Given the description of an element on the screen output the (x, y) to click on. 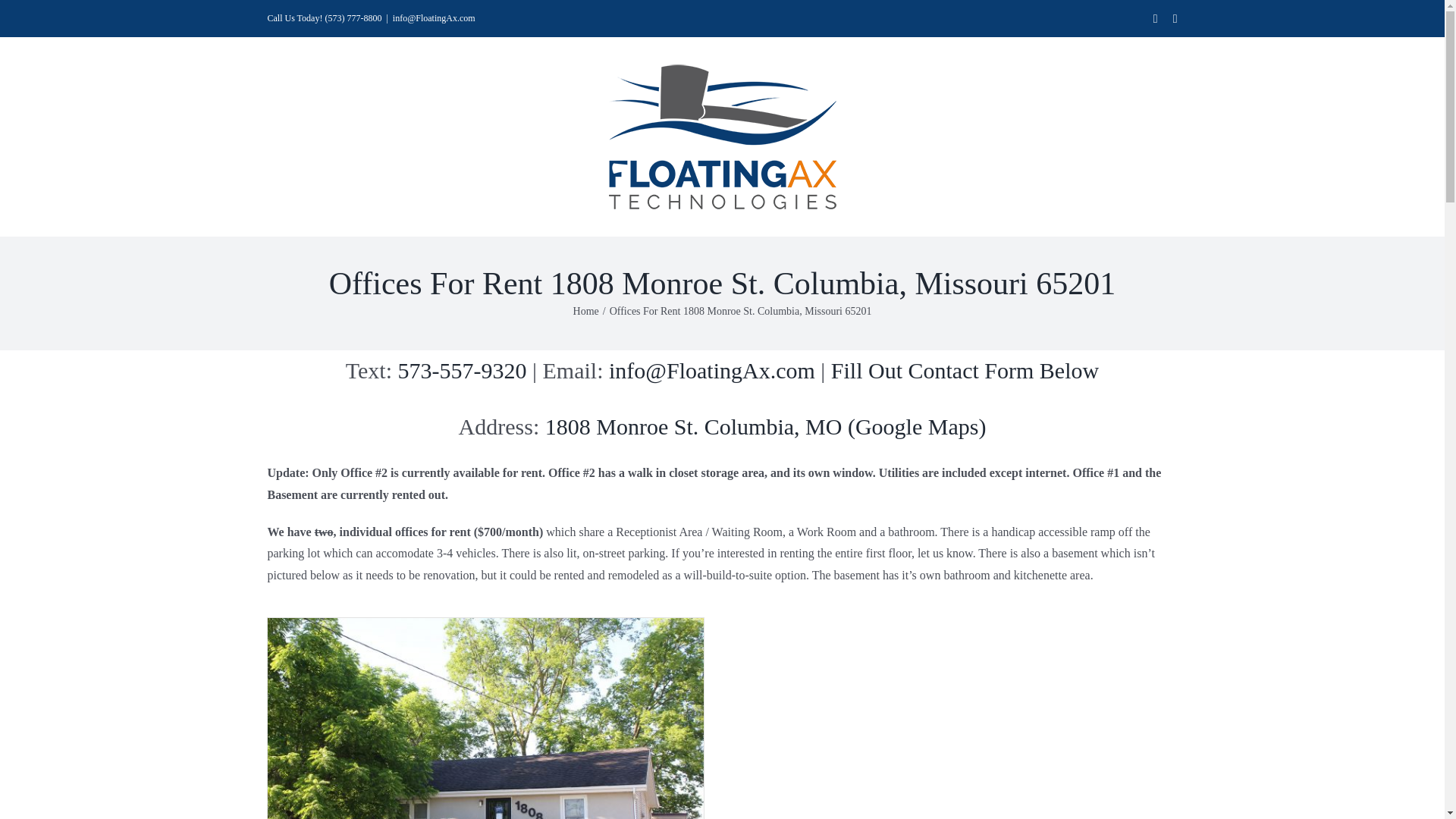
Home (585, 310)
573-557-9320 (462, 370)
Individual Offices For Rent in Columbia Missouri (485, 718)
Fill Out Contact Form Below (965, 370)
YouTube video player 1 (957, 718)
